Given the description of an element on the screen output the (x, y) to click on. 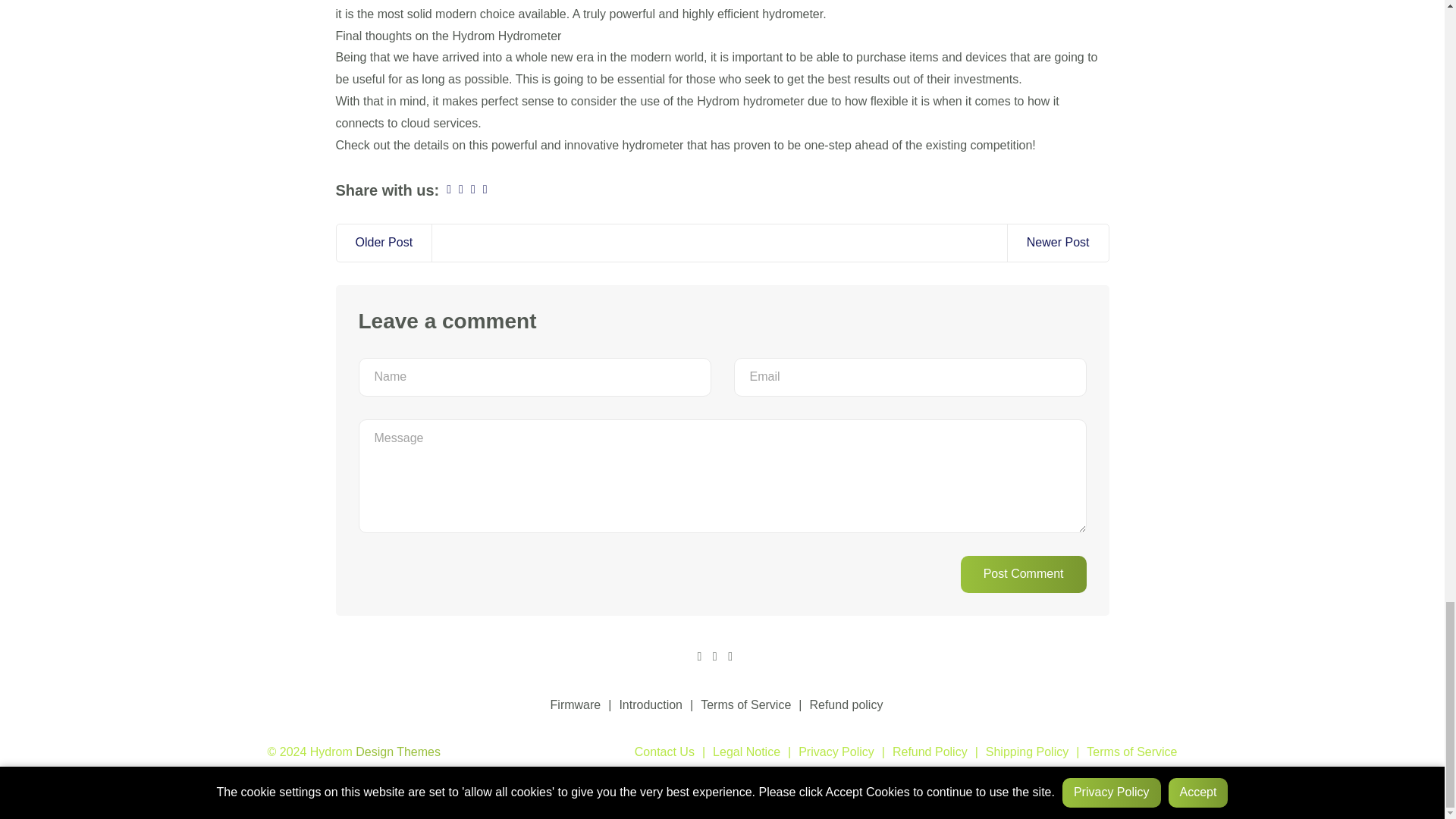
Union Pay (496, 776)
Contact Us (664, 751)
Introduction (640, 704)
Privacy Policy (827, 751)
Visa (520, 776)
Mastercard (399, 776)
Newer Post (1057, 242)
Shipping Policy (1018, 751)
Terms of Service (1122, 751)
Maestro (375, 776)
